Given the description of an element on the screen output the (x, y) to click on. 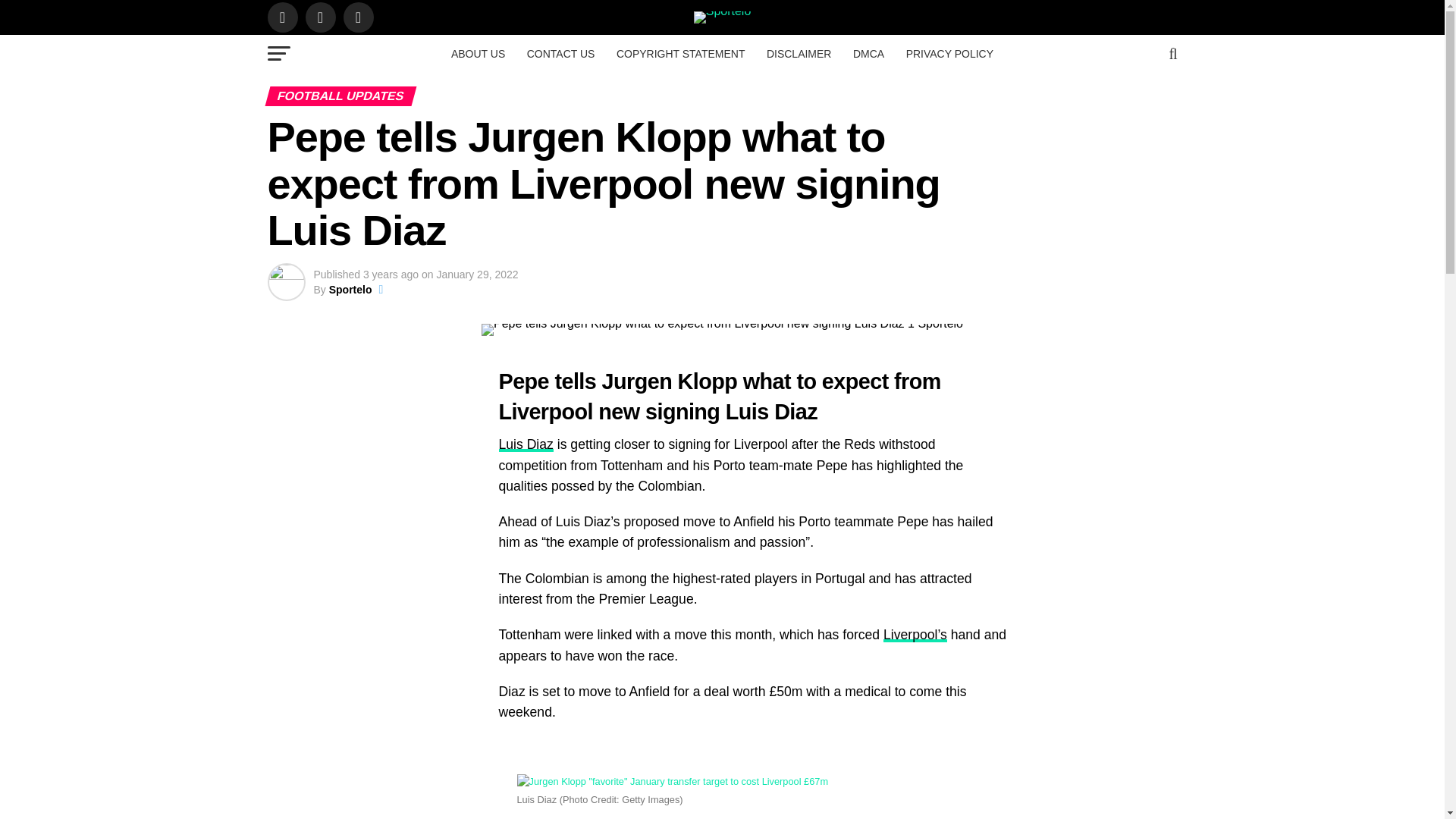
COPYRIGHT STATEMENT (680, 53)
ABOUT US (477, 53)
PRIVACY POLICY (949, 53)
CONTACT US (561, 53)
DMCA (868, 53)
DISCLAIMER (799, 53)
Luis Diaz (526, 444)
Sportelo (350, 289)
